Given the description of an element on the screen output the (x, y) to click on. 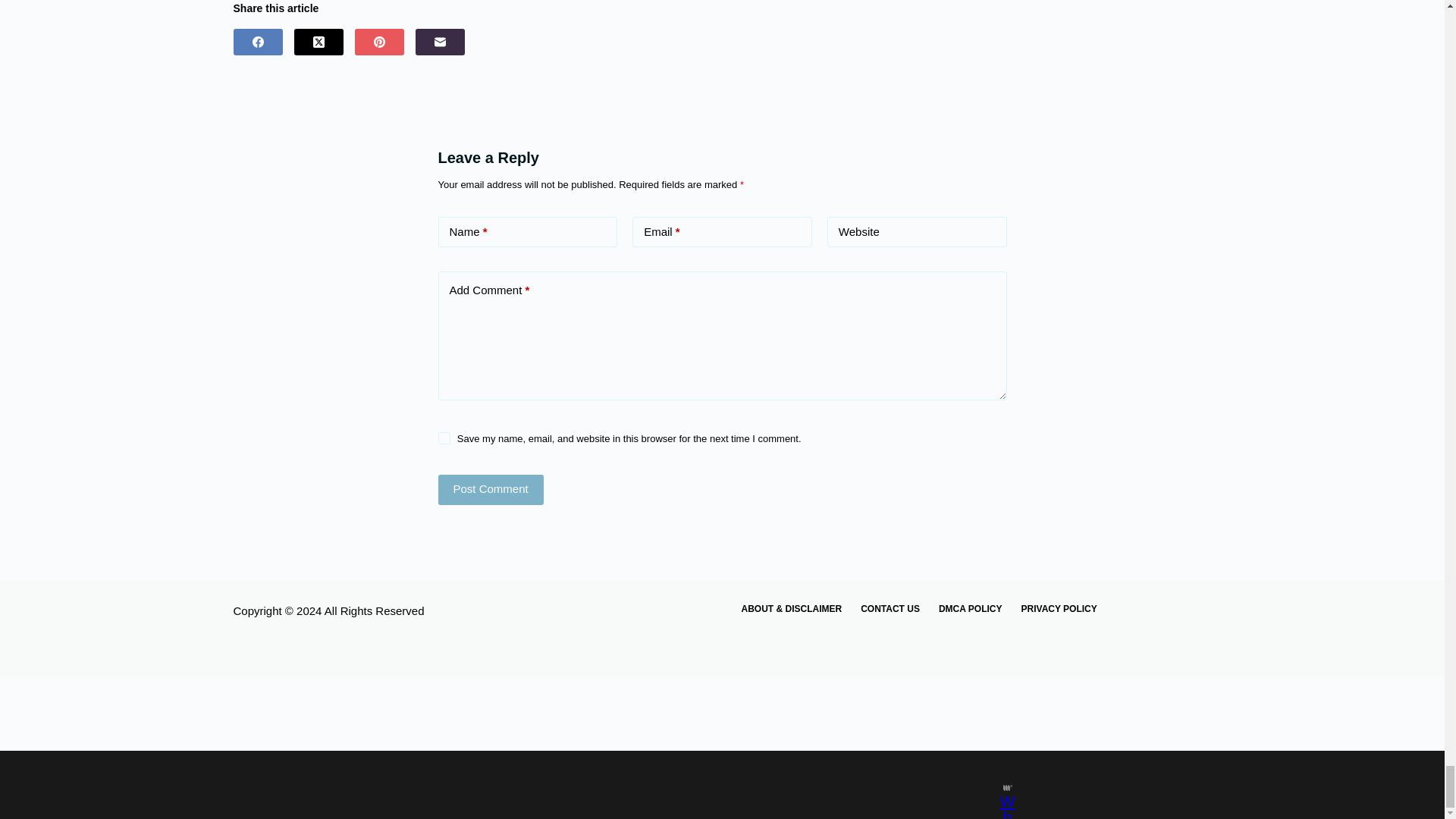
yes (443, 438)
